Given the description of an element on the screen output the (x, y) to click on. 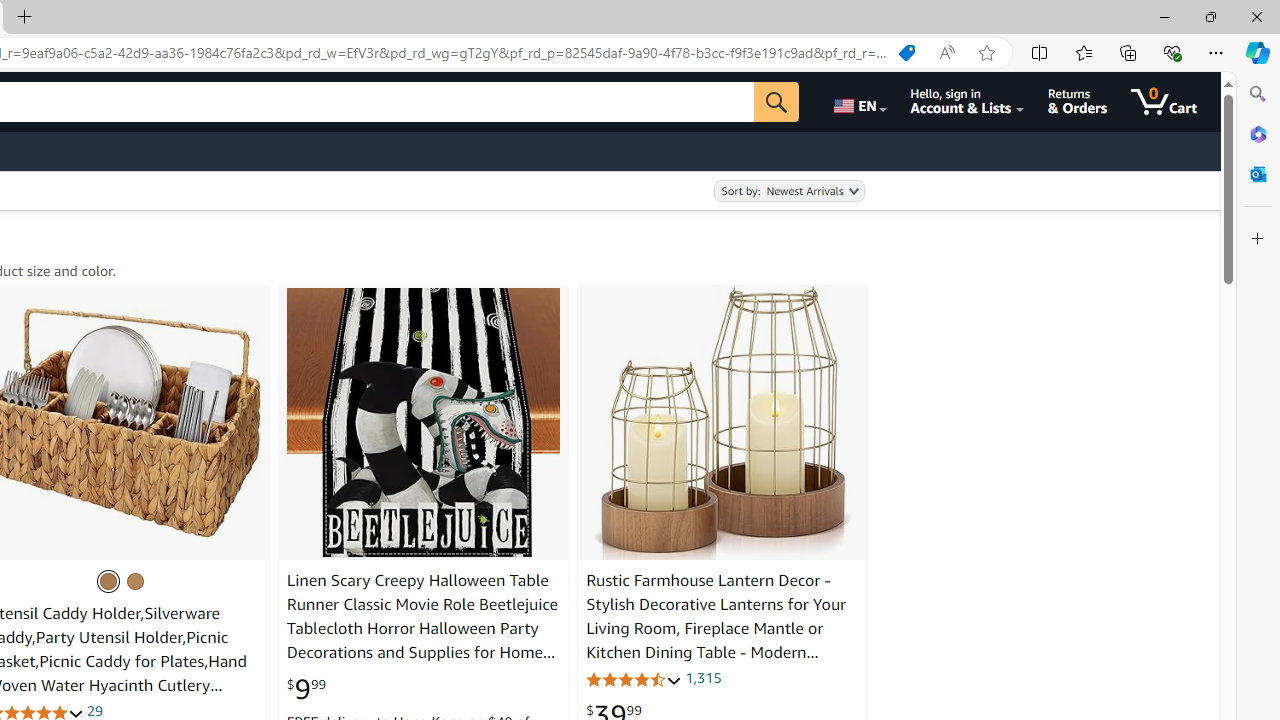
No small basket (108, 580)
Choose a language for shopping. (858, 101)
Sort by: (788, 191)
4.3 out of 5 stars (634, 678)
